Given the description of an element on the screen output the (x, y) to click on. 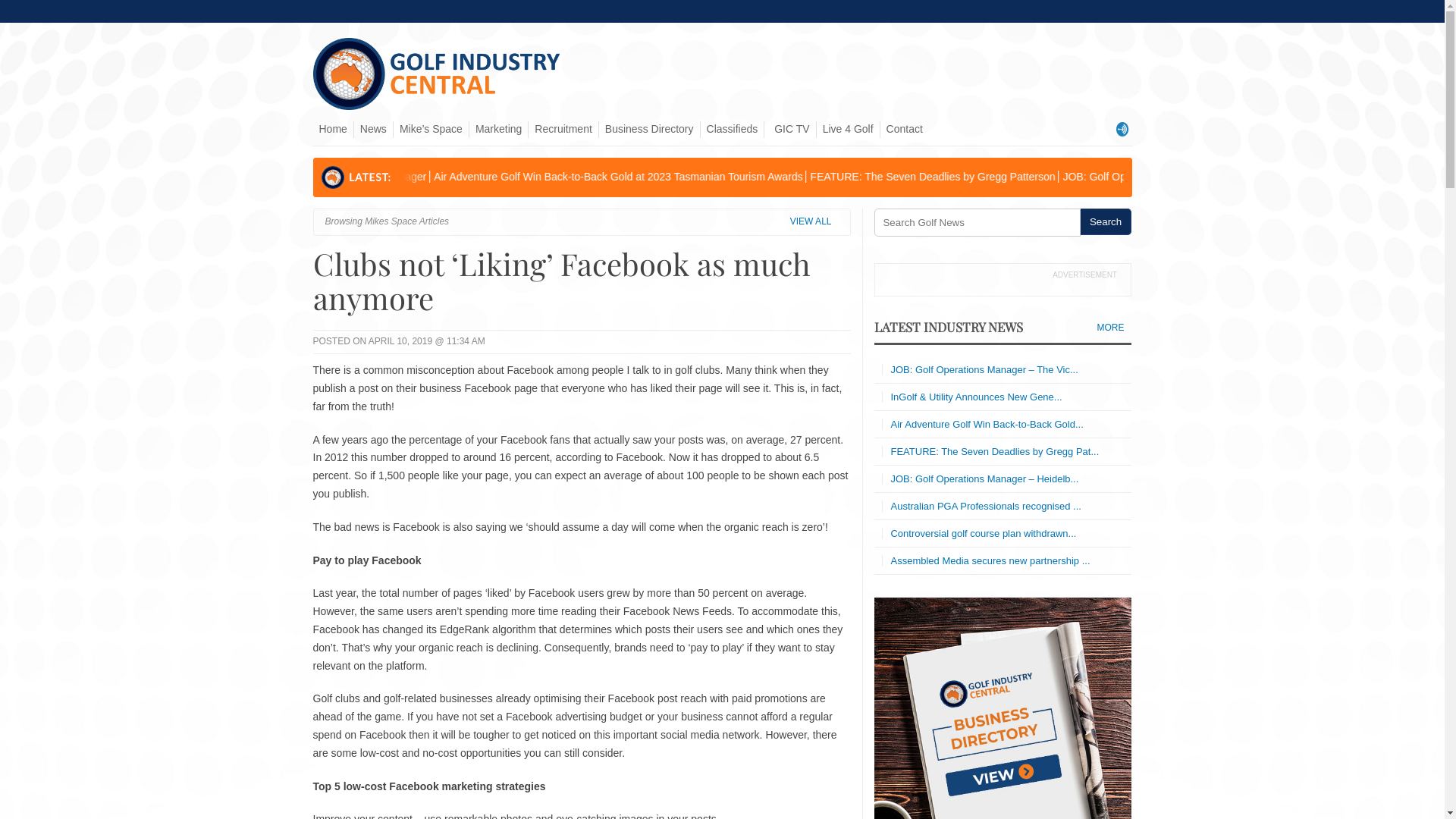
MORE Element type: text (1113, 327)
Controversial golf course plan withdrawn... Element type: text (983, 533)
Australian PGA Professionals recognised ... Element type: text (985, 505)
VIEW ALL Element type: text (814, 222)
FEATURE: The Seven Deadlies by Gregg Pat... Element type: text (994, 451)
Contact Element type: text (904, 129)
Search Element type: text (1106, 221)
InGolf & Utility Announces New Gene... Element type: text (975, 396)
Home Element type: text (332, 129)
Golf Industry Central Element type: hover (437, 106)
Marketing Element type: text (498, 129)
InGolf & Utility Announces New General Manager Element type: text (635, 176)
GIC TV Element type: text (789, 129)
Business Directory Element type: text (649, 129)
Assembled Media secures new partnership ... Element type: text (989, 560)
Recruitment Element type: text (562, 129)
News Element type: text (373, 129)
Classifieds Element type: text (732, 129)
Air Adventure Golf Win Back-to-Back Gold... Element type: text (986, 423)
Live 4 Golf Element type: text (847, 129)
